Given the description of an element on the screen output the (x, y) to click on. 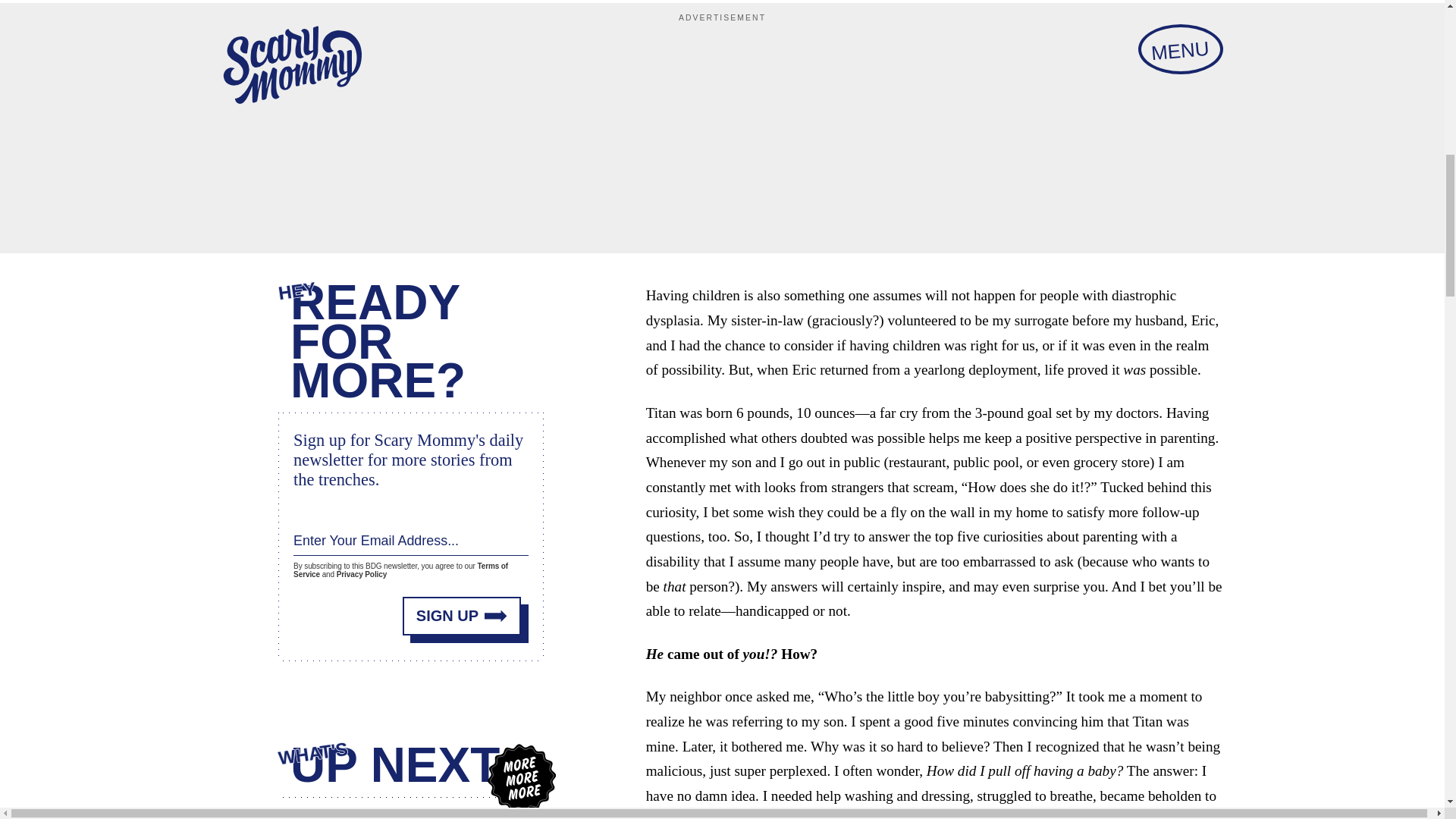
SIGN UP (462, 609)
Terms of Service (401, 565)
Privacy Policy (361, 572)
